Given the description of an element on the screen output the (x, y) to click on. 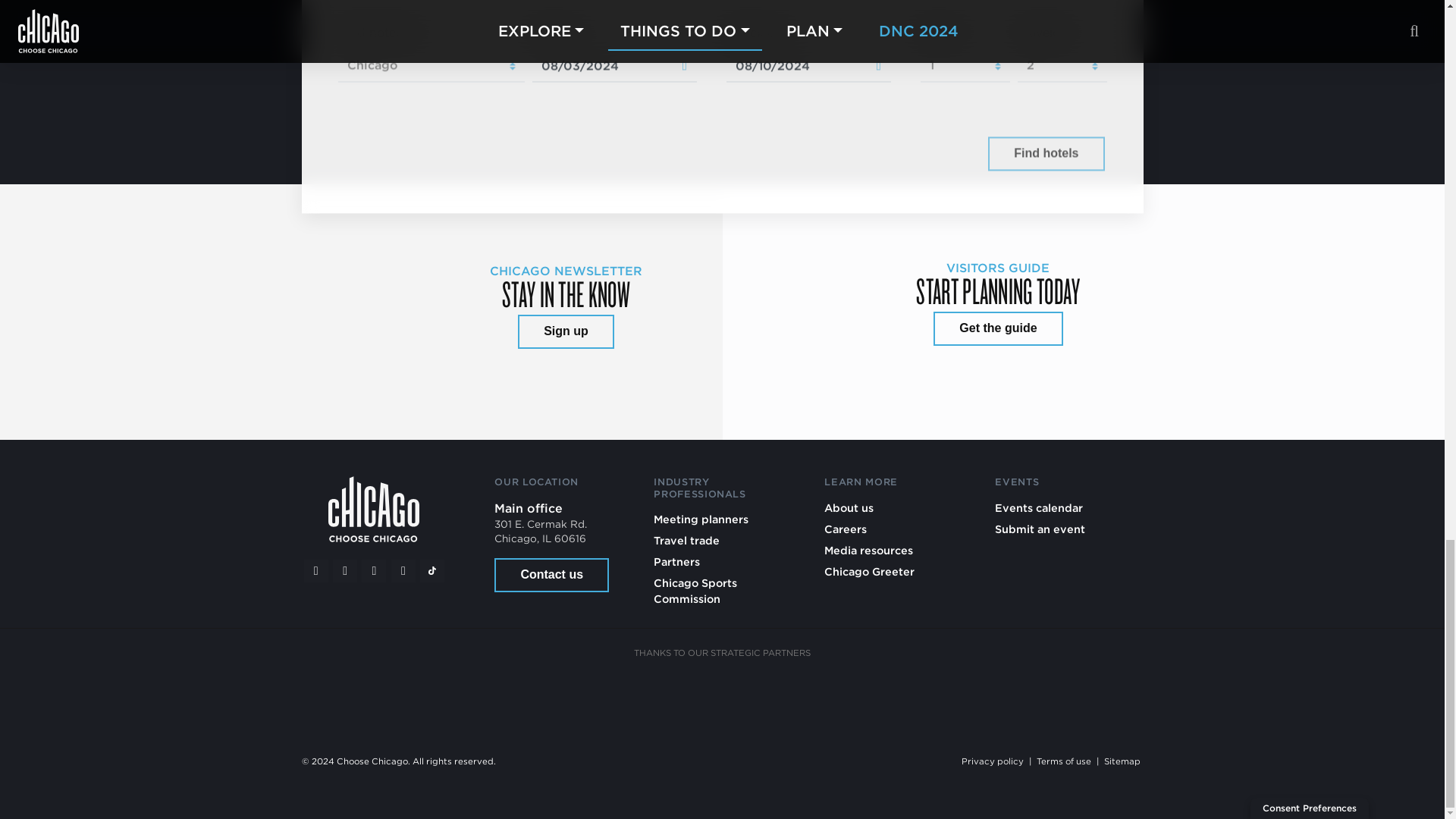
Chicago Department of Aviation (894, 696)
Enjoy Illinois (779, 696)
United Airlines (1009, 696)
American Airlines (433, 696)
Brand USA (549, 696)
Powered by Expedia (917, 154)
